Given the description of an element on the screen output the (x, y) to click on. 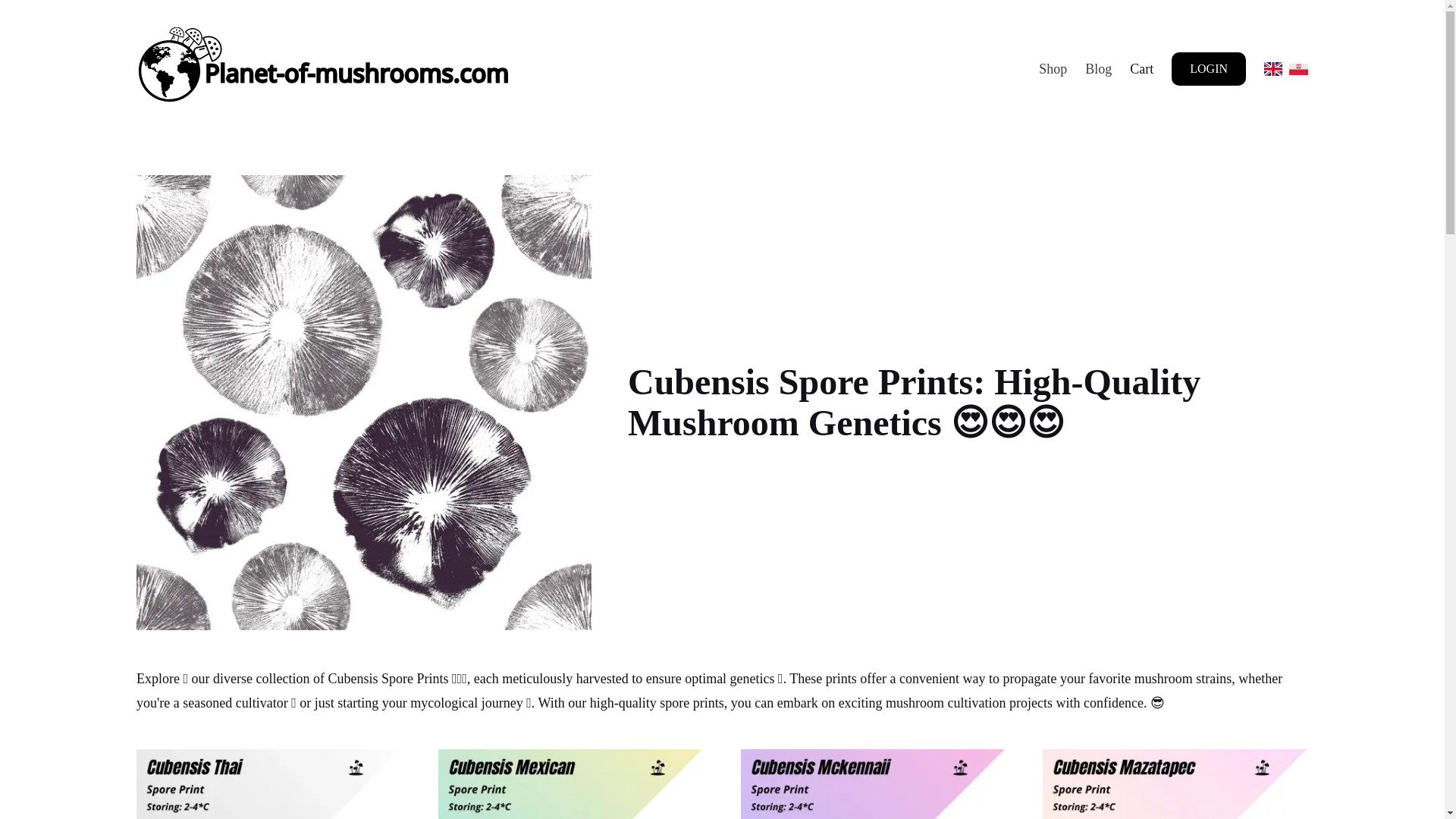
LOGIN (1209, 68)
Cart (1141, 68)
Blog (1098, 68)
Shop (1053, 68)
